Given the description of an element on the screen output the (x, y) to click on. 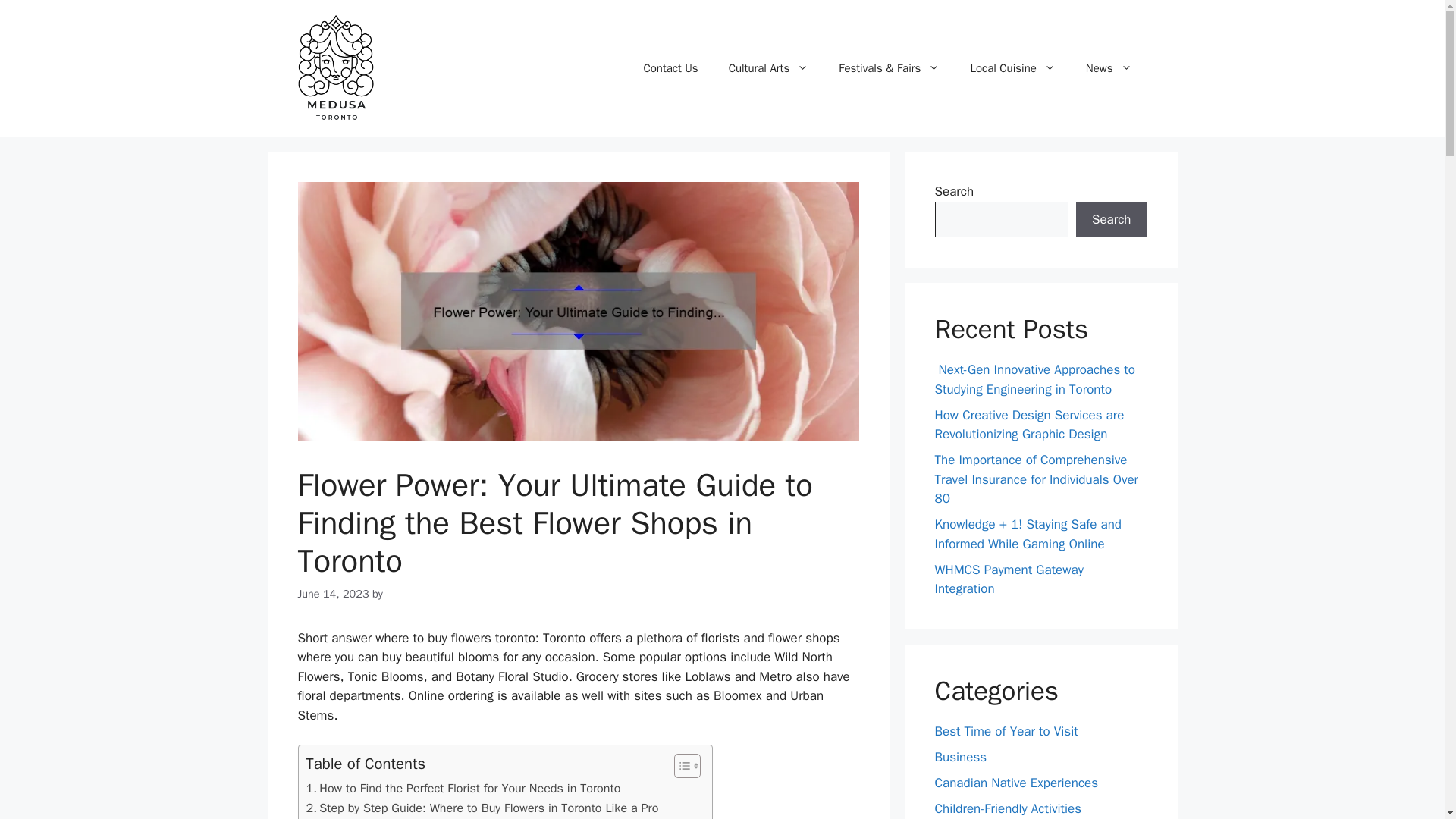
Cultural Arts (768, 67)
How to Find the Perfect Florist for Your Needs in Toronto (463, 788)
News (1108, 67)
Local Cuisine (463, 788)
Contact Us (1012, 67)
